Given the description of an element on the screen output the (x, y) to click on. 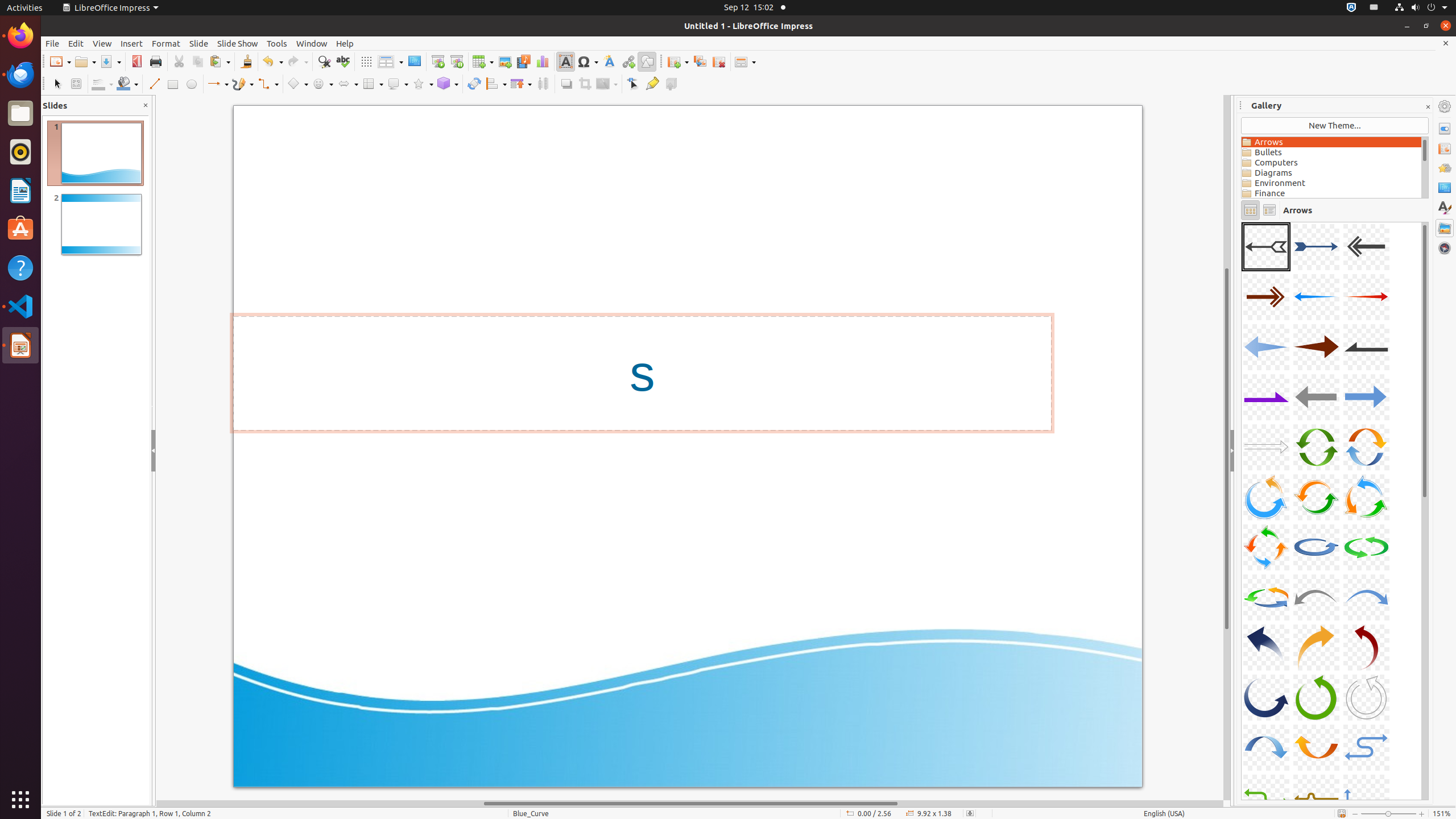
Redo Element type: push-button (296, 61)
A26-CurvedArrow-Orange Element type: list-item (1315, 646)
Master Slides Element type: radio-button (1444, 188)
Computers Element type: list-item (1331, 162)
Delete Slide Element type: push-button (718, 61)
